Given the description of an element on the screen output the (x, y) to click on. 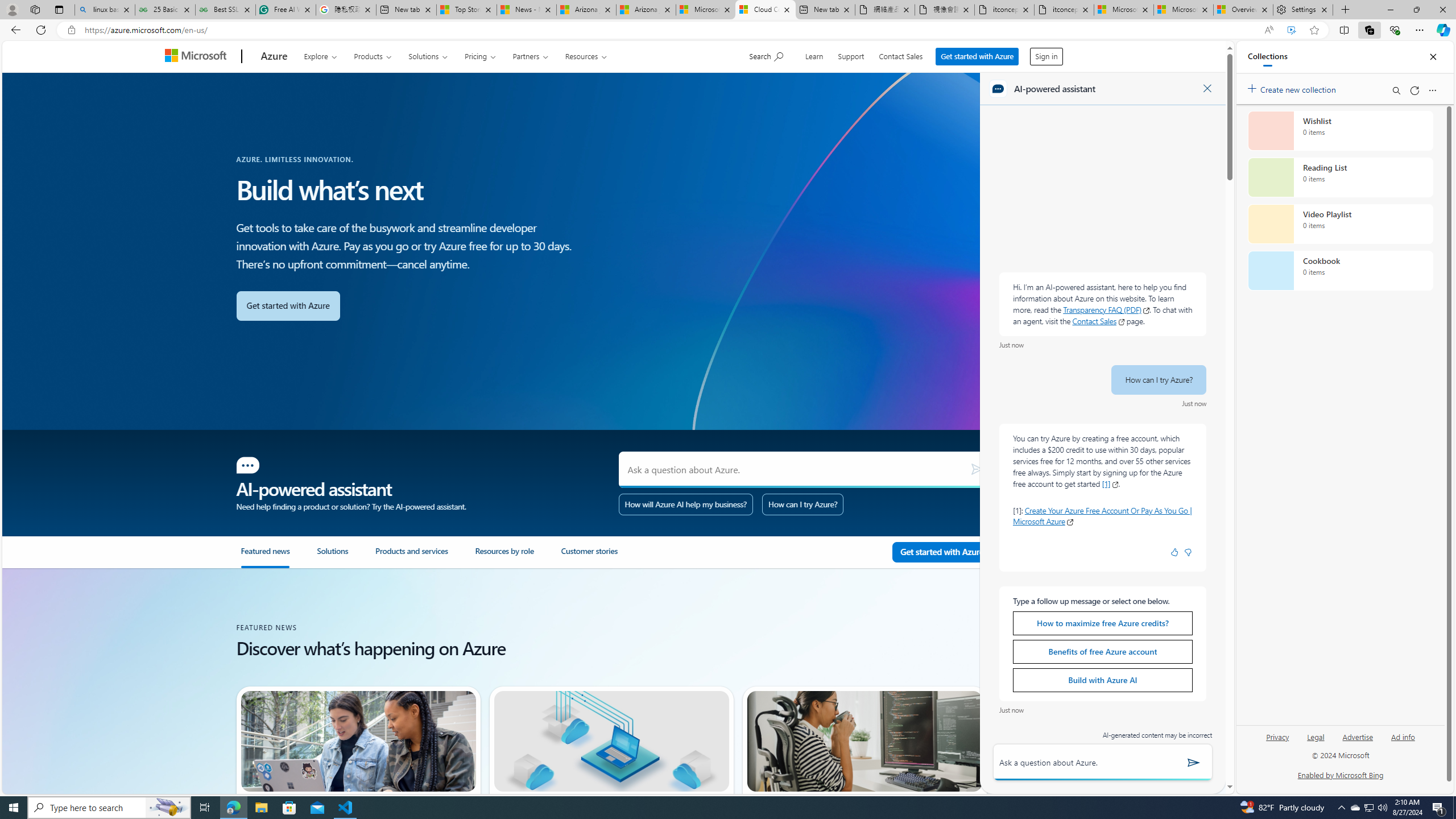
Microsoft Services Agreement (706, 9)
Opens in a new window; external. (1070, 522)
More options menu (1432, 90)
Featured news (277, 556)
How will Azure AI help my business? (686, 504)
Video Playlist collection, 0 items (1339, 223)
linux basic - Search (104, 9)
Ad info (1402, 736)
